Given the description of an element on the screen output the (x, y) to click on. 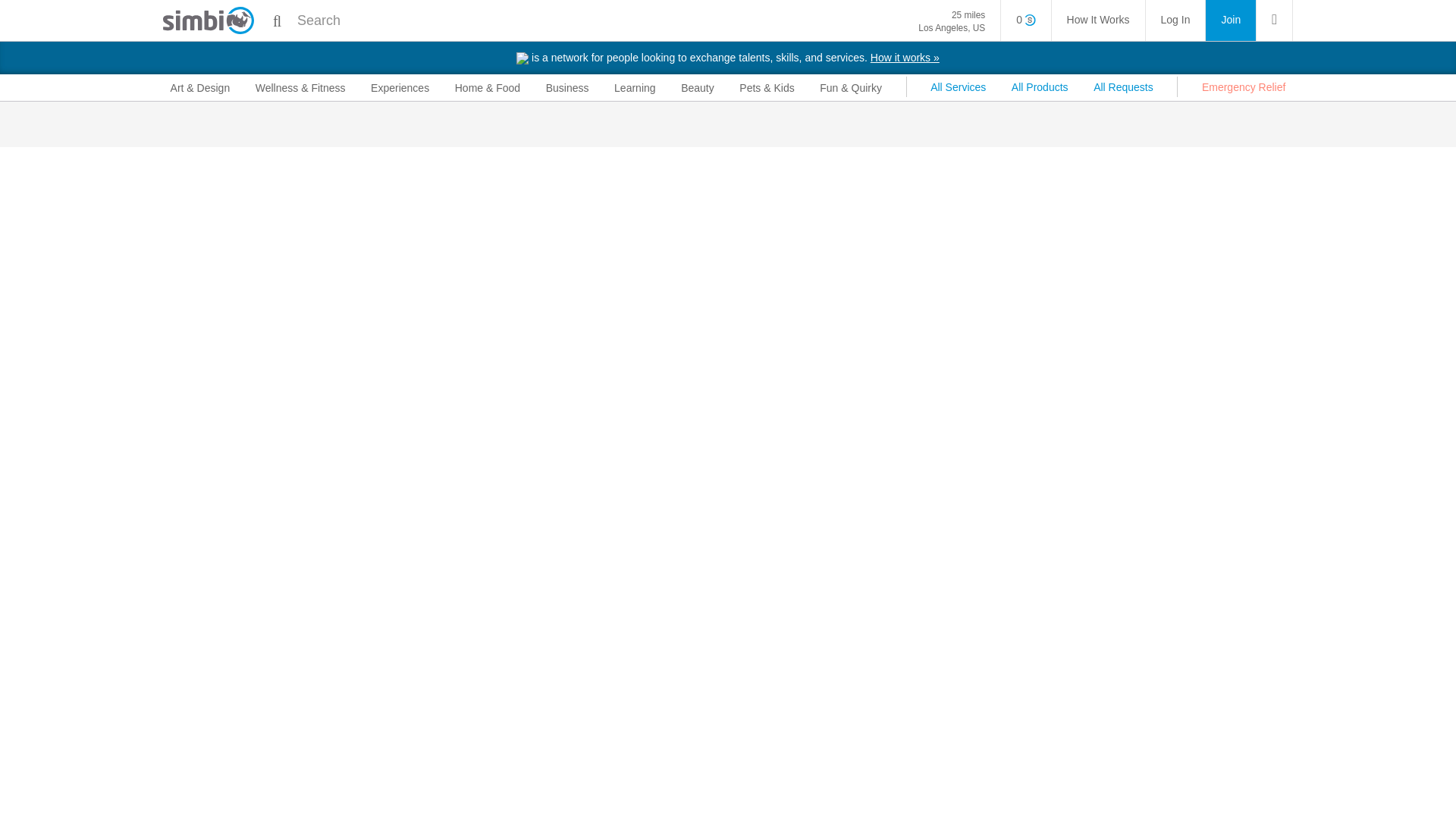
How It Works (1097, 20)
0 (1025, 20)
Log In (1175, 20)
Join (1230, 20)
